Given the description of an element on the screen output the (x, y) to click on. 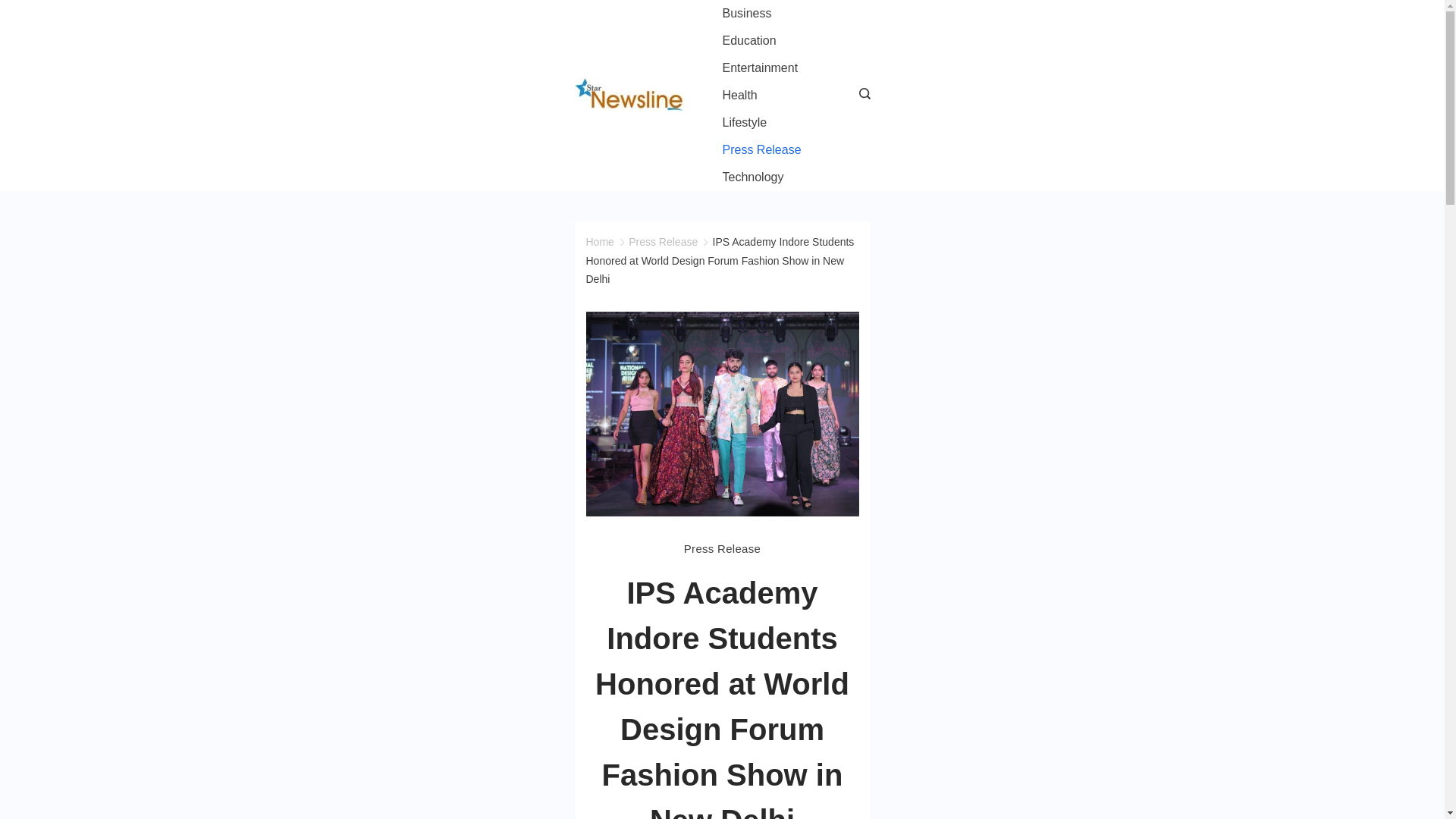
Health (739, 94)
Business (746, 13)
Press Release (662, 241)
Lifestyle (744, 122)
Press Release (762, 149)
Technology (753, 176)
Entertainment (759, 67)
Home (598, 241)
Press Release (722, 548)
